Given the description of an element on the screen output the (x, y) to click on. 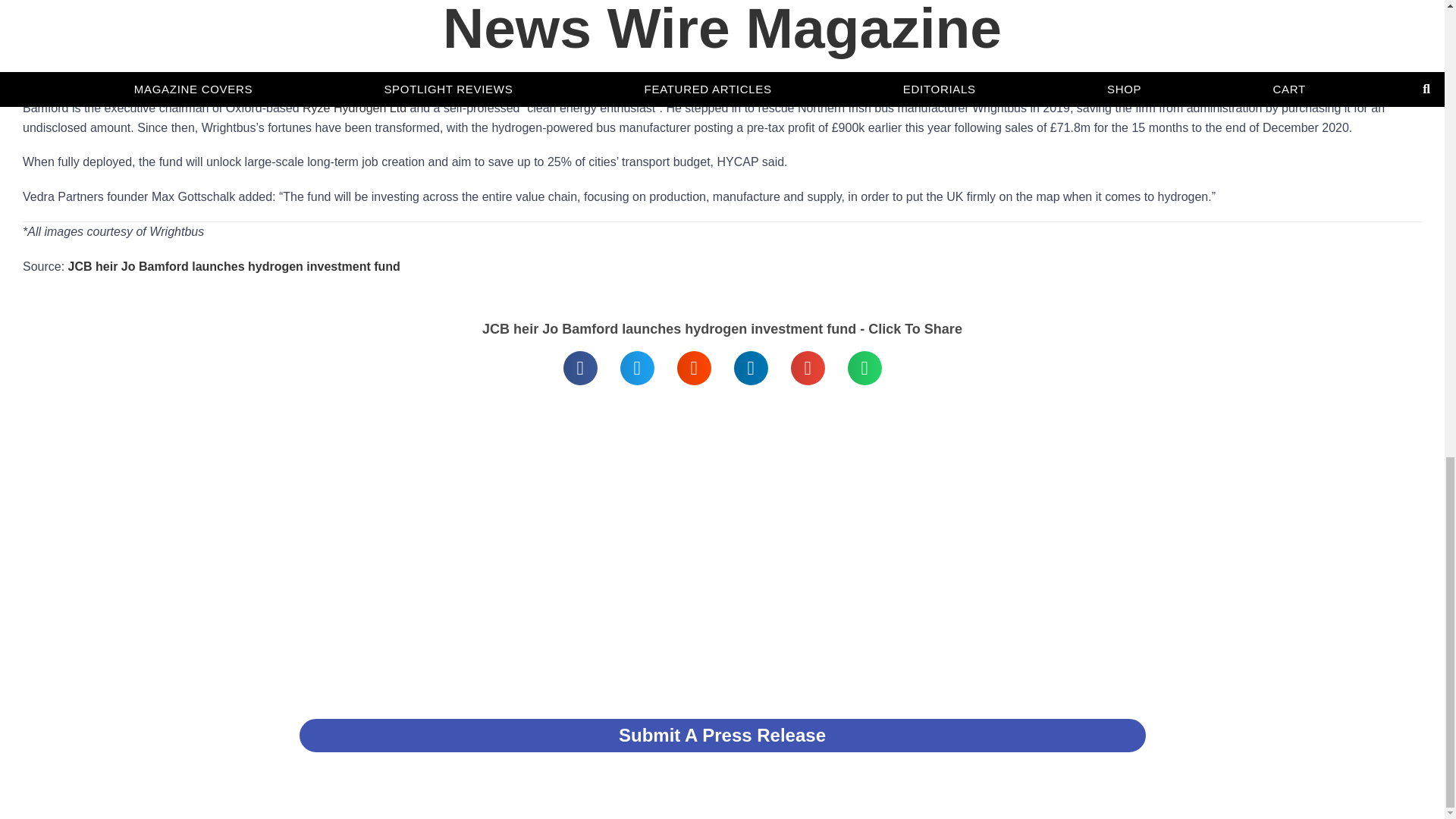
JCB heir Jo Bamford launches hydrogen investment fund (234, 266)
JCB heir Jo Bamford launches hydrogen investment fund (349, 23)
Submit A Press Release (722, 735)
Ryze Hydrogen Ltd (354, 107)
